Given the description of an element on the screen output the (x, y) to click on. 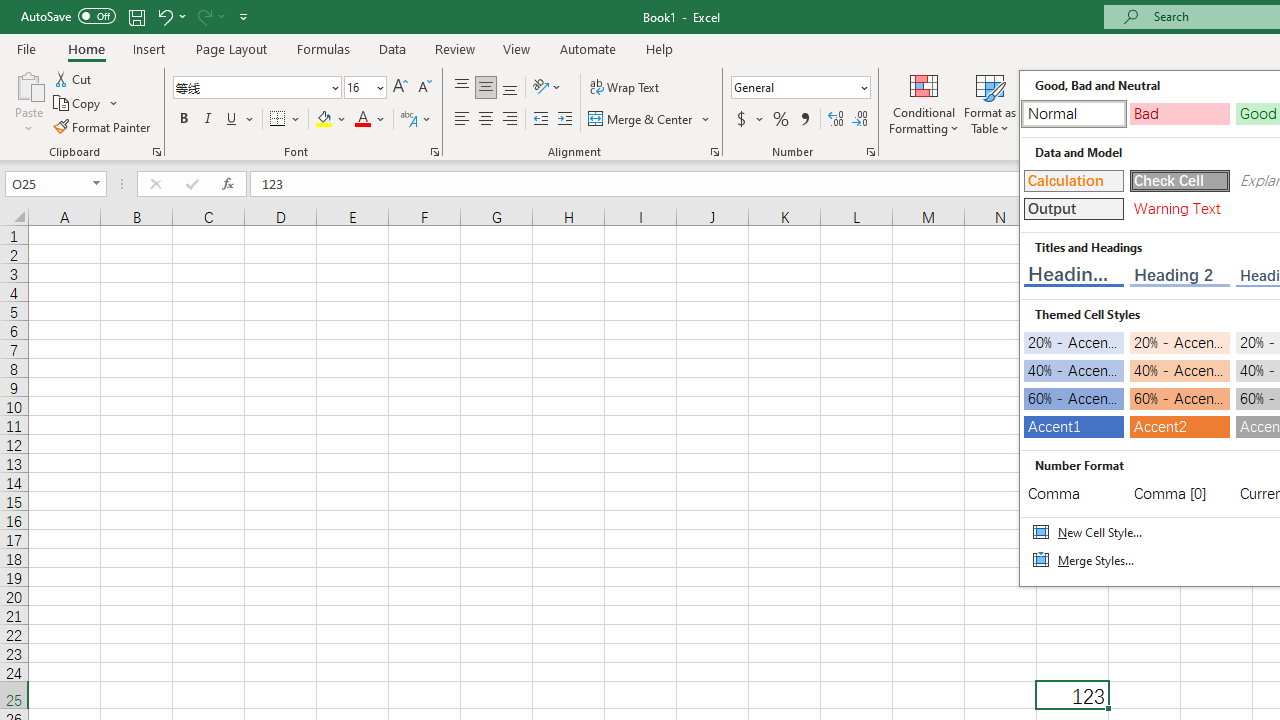
Copy (78, 103)
Font Size (358, 87)
Decrease Indent (540, 119)
Top Align (461, 87)
Paste (28, 102)
Borders (285, 119)
Format Cell Alignment (714, 151)
Increase Font Size (399, 87)
Bold (183, 119)
Percent Style (781, 119)
